Given the description of an element on the screen output the (x, y) to click on. 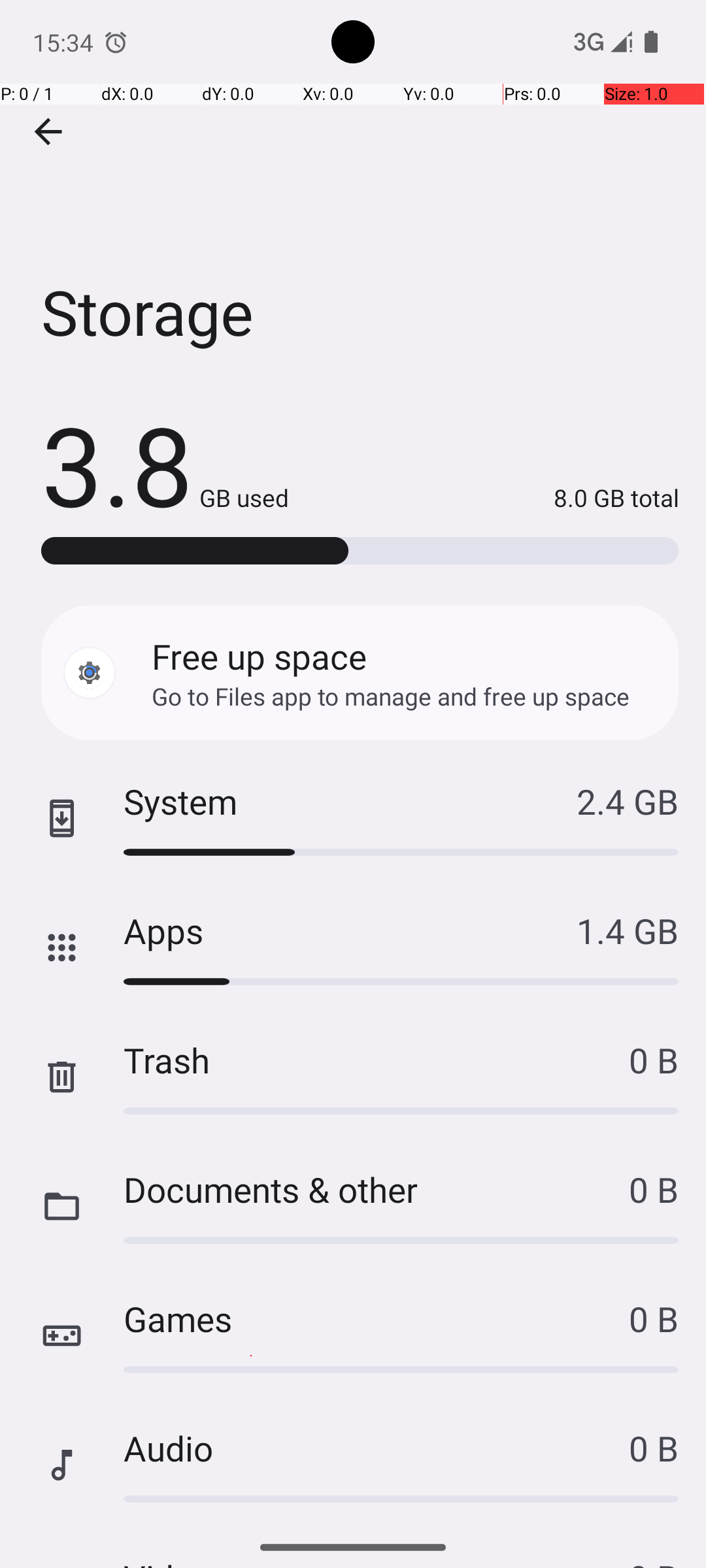
2.4 GB Element type: android.widget.TextView (627, 801)
